Given the description of an element on the screen output the (x, y) to click on. 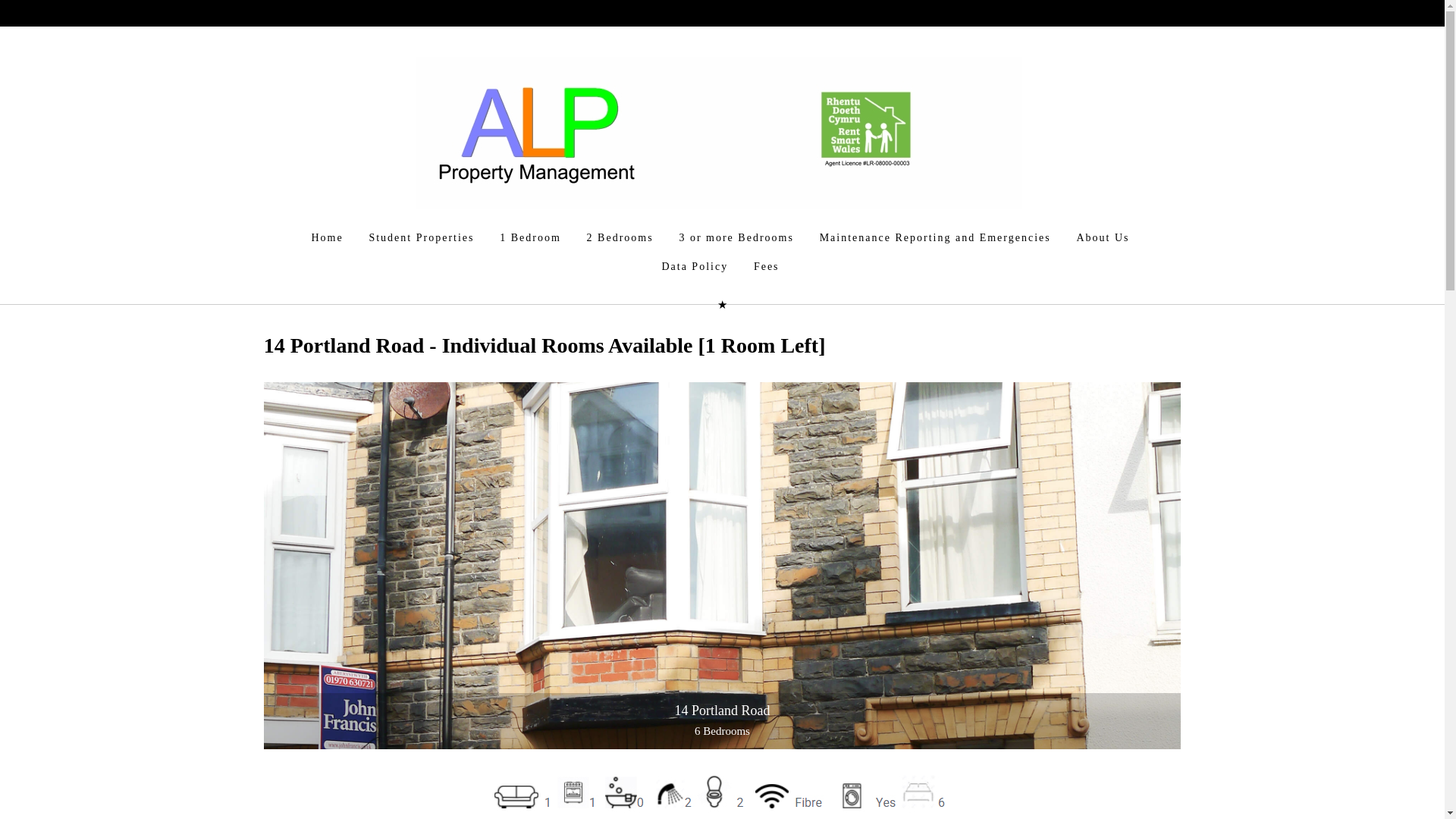
Data Policy (694, 266)
2 Bedrooms (620, 237)
ALP Property Management Ltd (718, 132)
3 or more Bedrooms (735, 237)
1 Bedroom (529, 237)
Home (326, 237)
Maintenance Reporting and Emergencies (935, 237)
About Us (1102, 237)
Fees (766, 266)
Student Properties (420, 237)
